Given the description of an element on the screen output the (x, y) to click on. 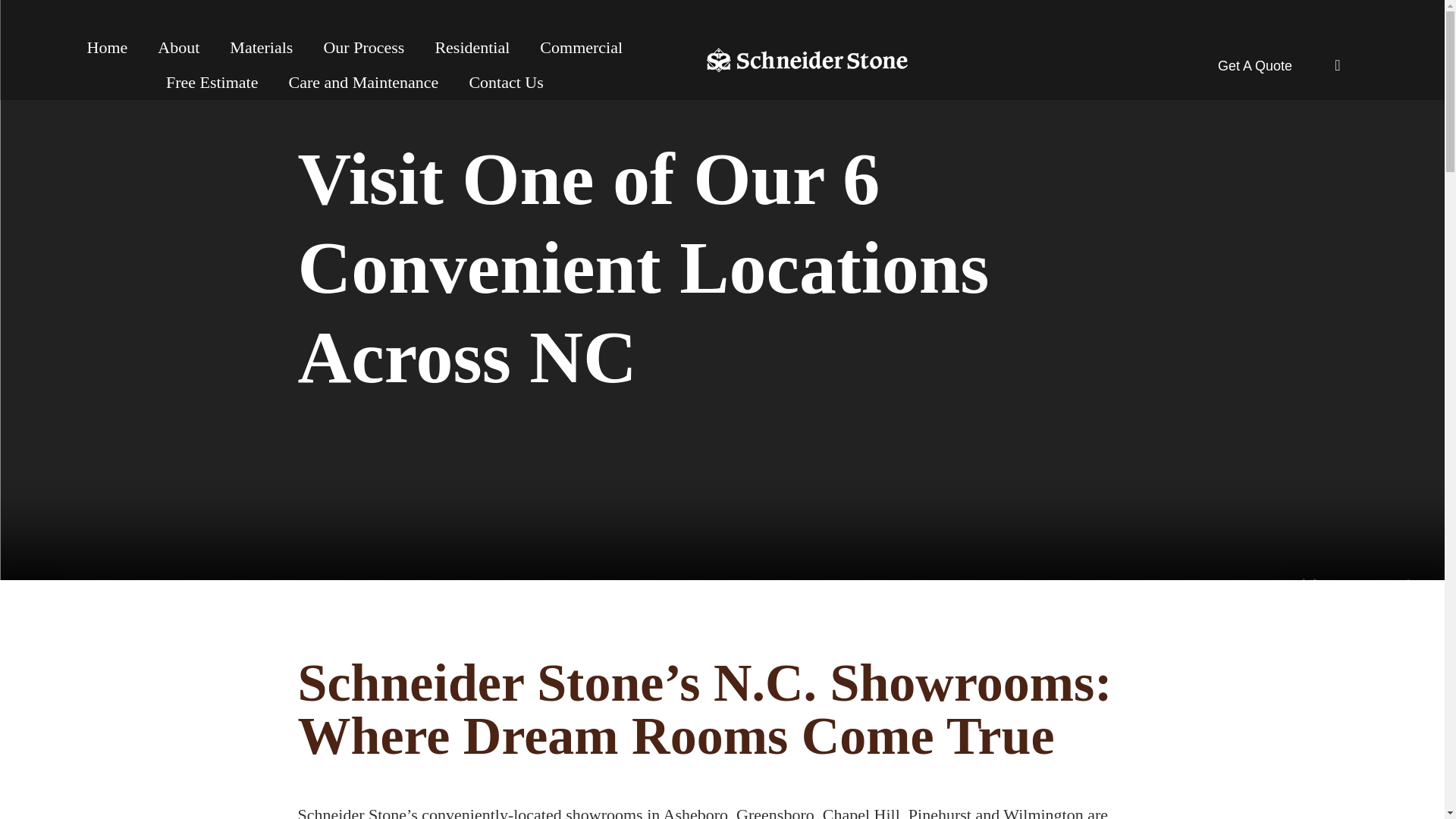
Free Estimate (212, 82)
Care and Maintenance (362, 82)
Materials (260, 47)
Home (106, 47)
About (178, 47)
Commercial (580, 47)
Contact Us (504, 82)
Residential (471, 47)
Get A Quote (1254, 65)
Our Process (363, 47)
